Given the description of an element on the screen output the (x, y) to click on. 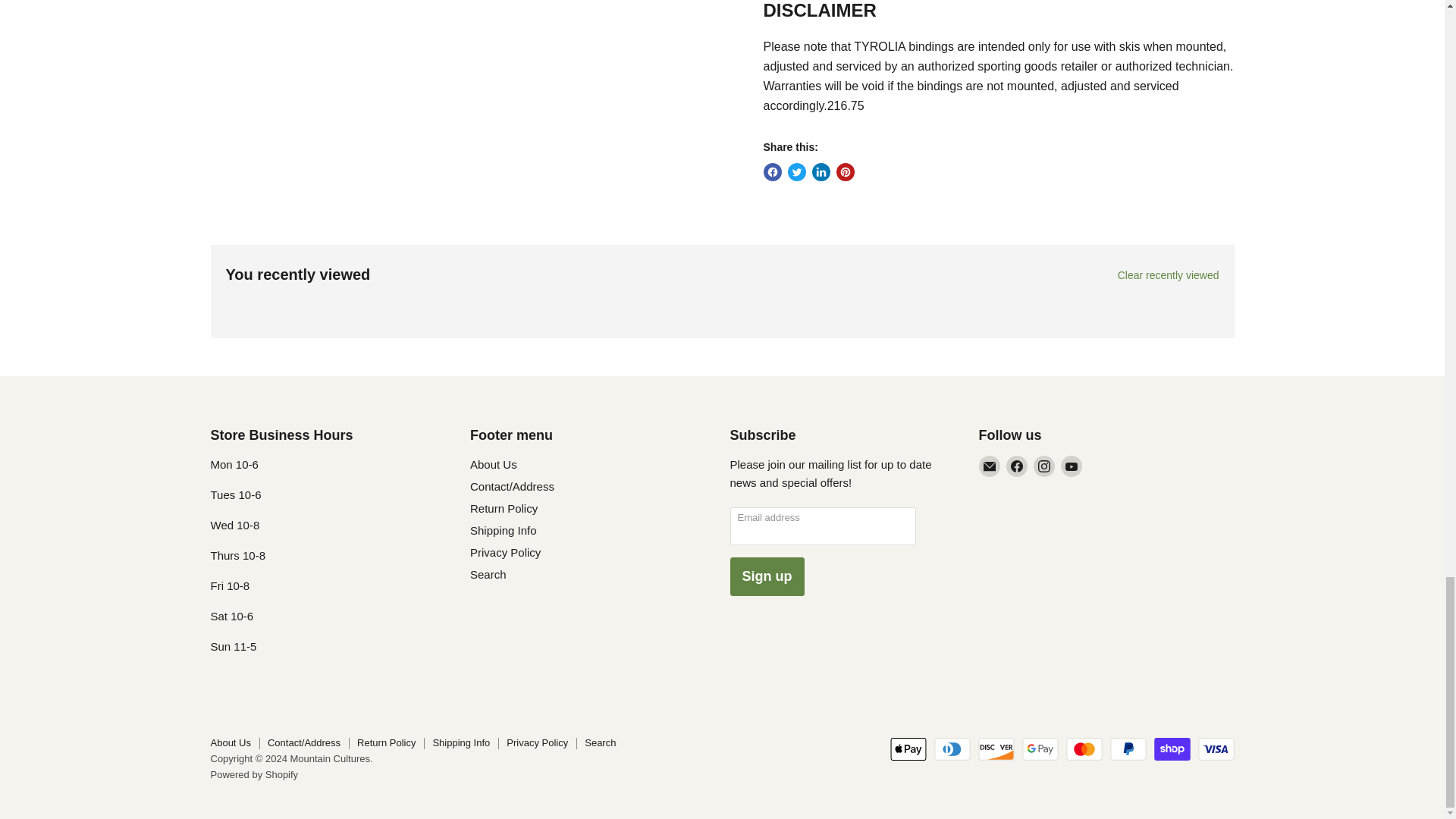
Facebook (1016, 465)
Email (988, 465)
Instagram (1043, 465)
YouTube (1070, 465)
